Given the description of an element on the screen output the (x, y) to click on. 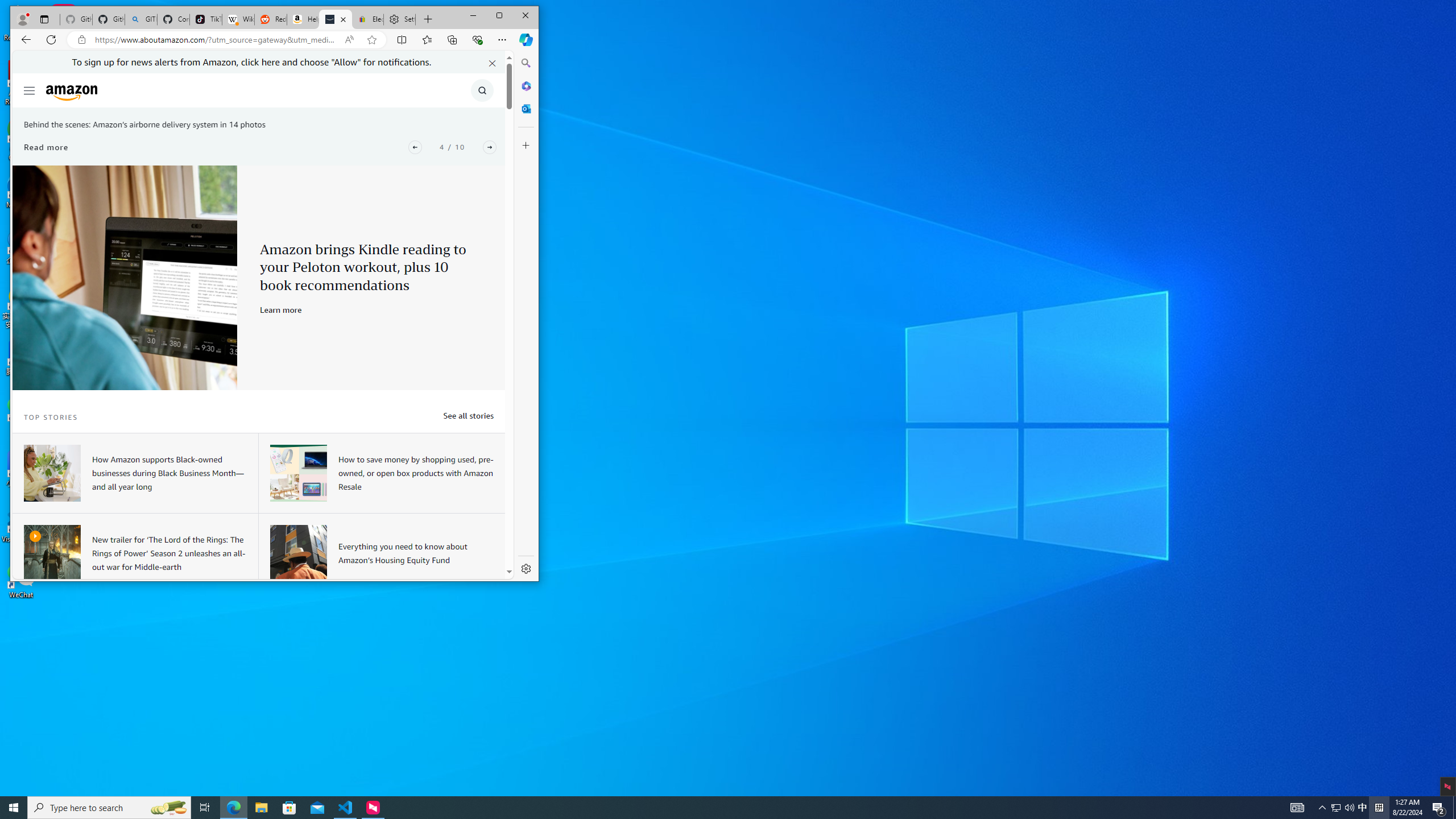
Search highlights icon opens search home window (167, 807)
Wikipedia, the free encyclopedia (237, 19)
Settings (525, 568)
Favorites (427, 39)
Browser essentials (477, 39)
Electronics, Cars, Fashion, Collectibles & More | eBay (367, 19)
TikTok (205, 19)
Maximize (499, 15)
Microsoft Edge - 1 running window (233, 807)
Class: icon-search (481, 89)
